Given the description of an element on the screen output the (x, y) to click on. 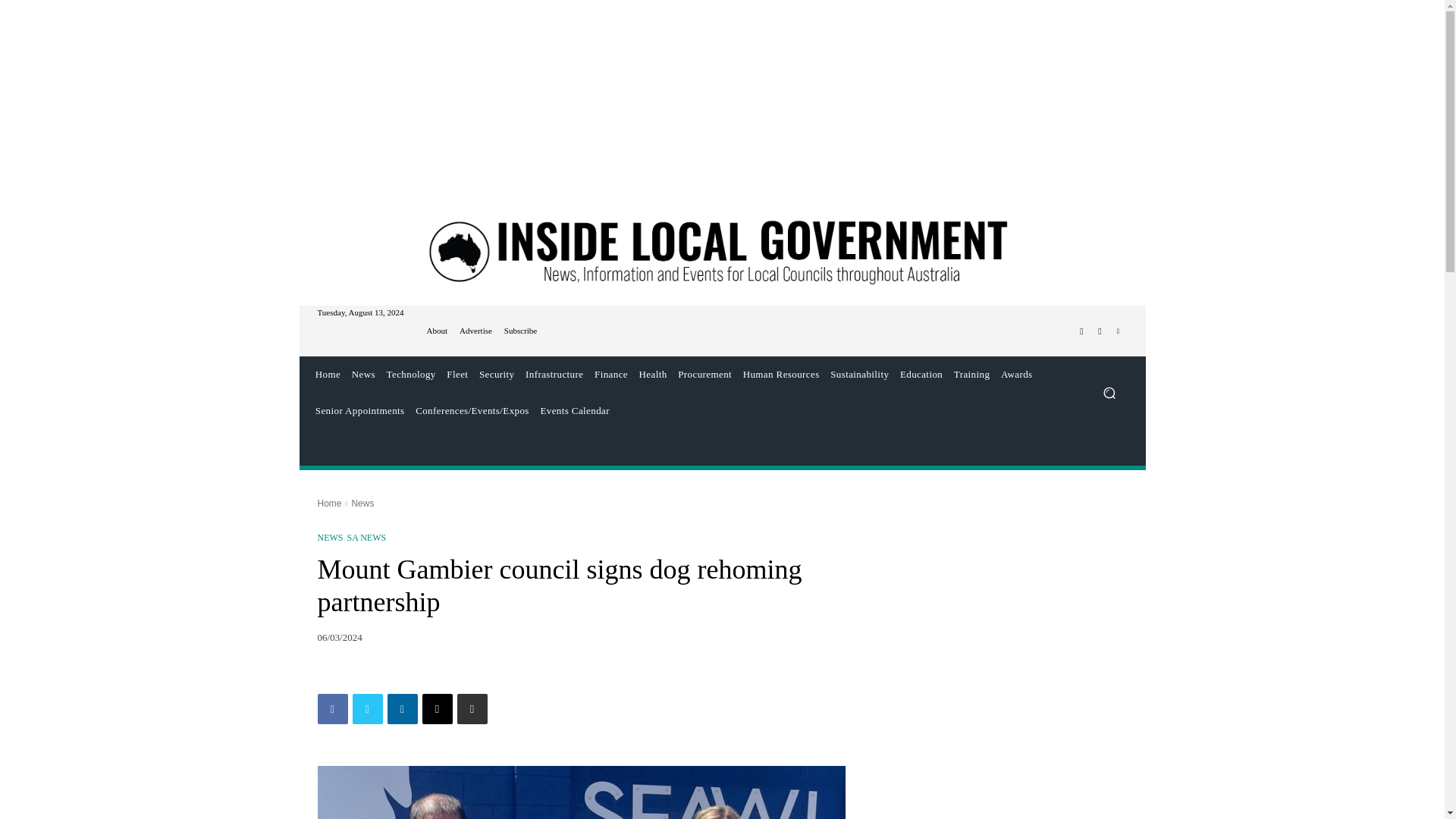
Print (471, 708)
Subscribe (520, 330)
Home (327, 374)
About (437, 330)
Facebook (332, 708)
Facebook (1080, 331)
Linkedin (401, 708)
Twitter (366, 708)
News (363, 374)
